Given the description of an element on the screen output the (x, y) to click on. 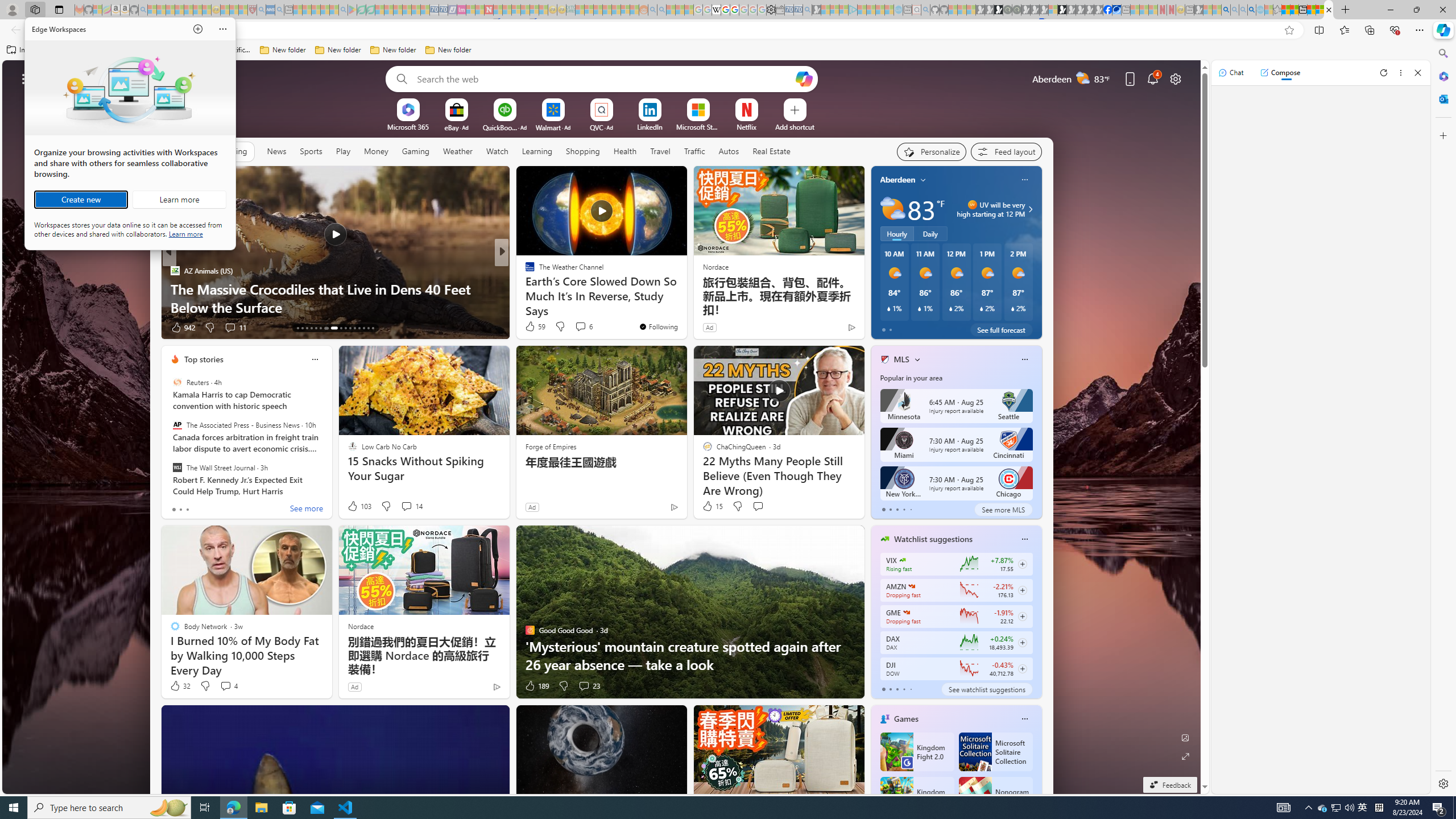
Compose (1279, 72)
Show desktop (1454, 807)
Learning (536, 151)
Visual Studio Code - 1 running window (345, 807)
Task View (204, 807)
AutomationID: tab-20 (329, 328)
Nonogram FRVR (995, 796)
